Given the description of an element on the screen output the (x, y) to click on. 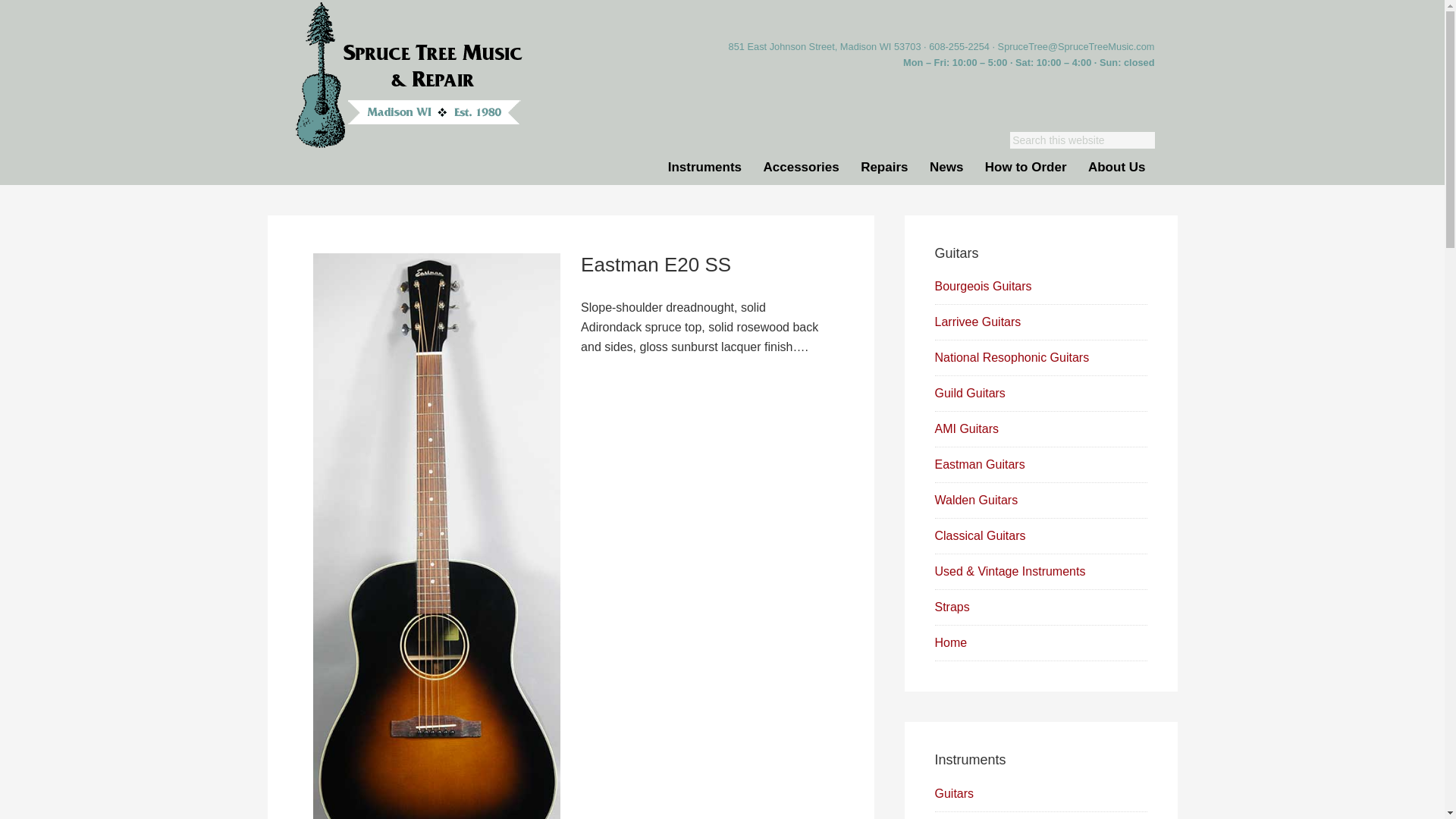
How to Order (1025, 167)
Instruments (705, 167)
News (946, 167)
SPRUCE TREE MUSIC (408, 75)
About Us (1116, 167)
Accessories (800, 167)
Repairs (884, 167)
